Given the description of an element on the screen output the (x, y) to click on. 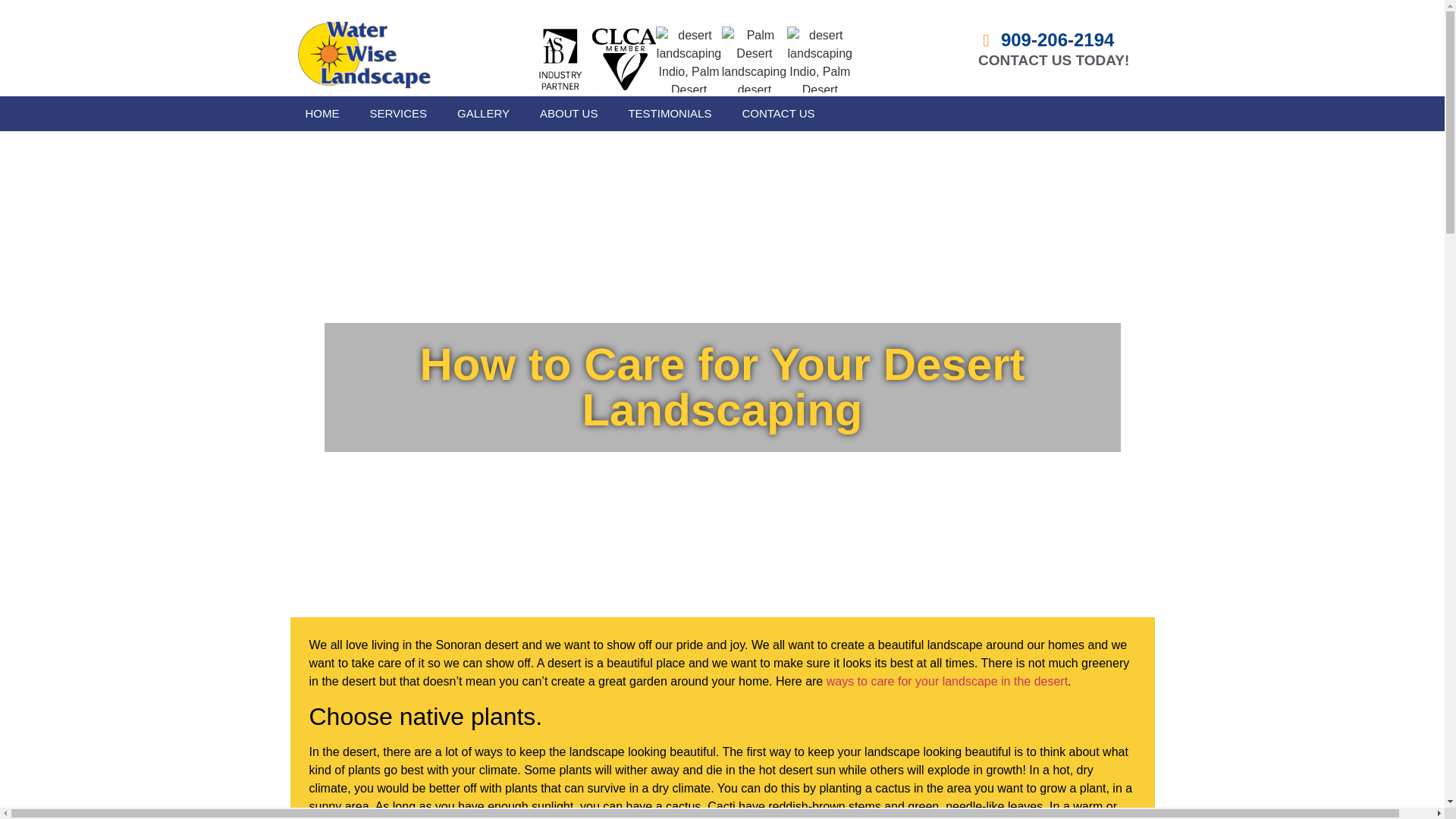
ways to care for your landscape in the desert (947, 680)
TESTIMONIALS (669, 113)
SERVICES (398, 113)
GALLERY (483, 113)
ABOUT US (568, 113)
909-206-2194 (1044, 40)
HOME (321, 113)
CONTACT US (777, 113)
